Given the description of an element on the screen output the (x, y) to click on. 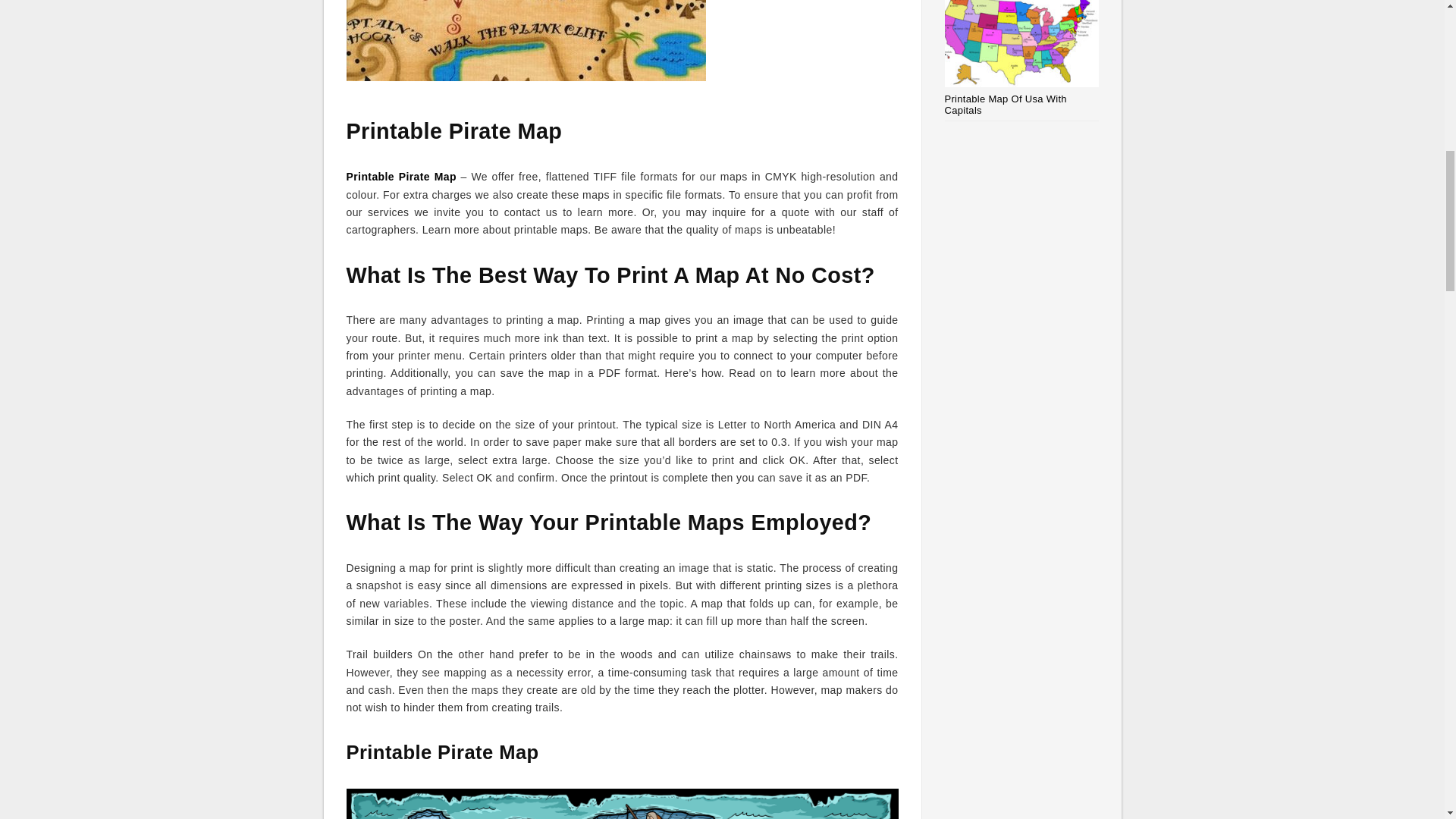
Printable Pirate Map (400, 176)
